Given the description of an element on the screen output the (x, y) to click on. 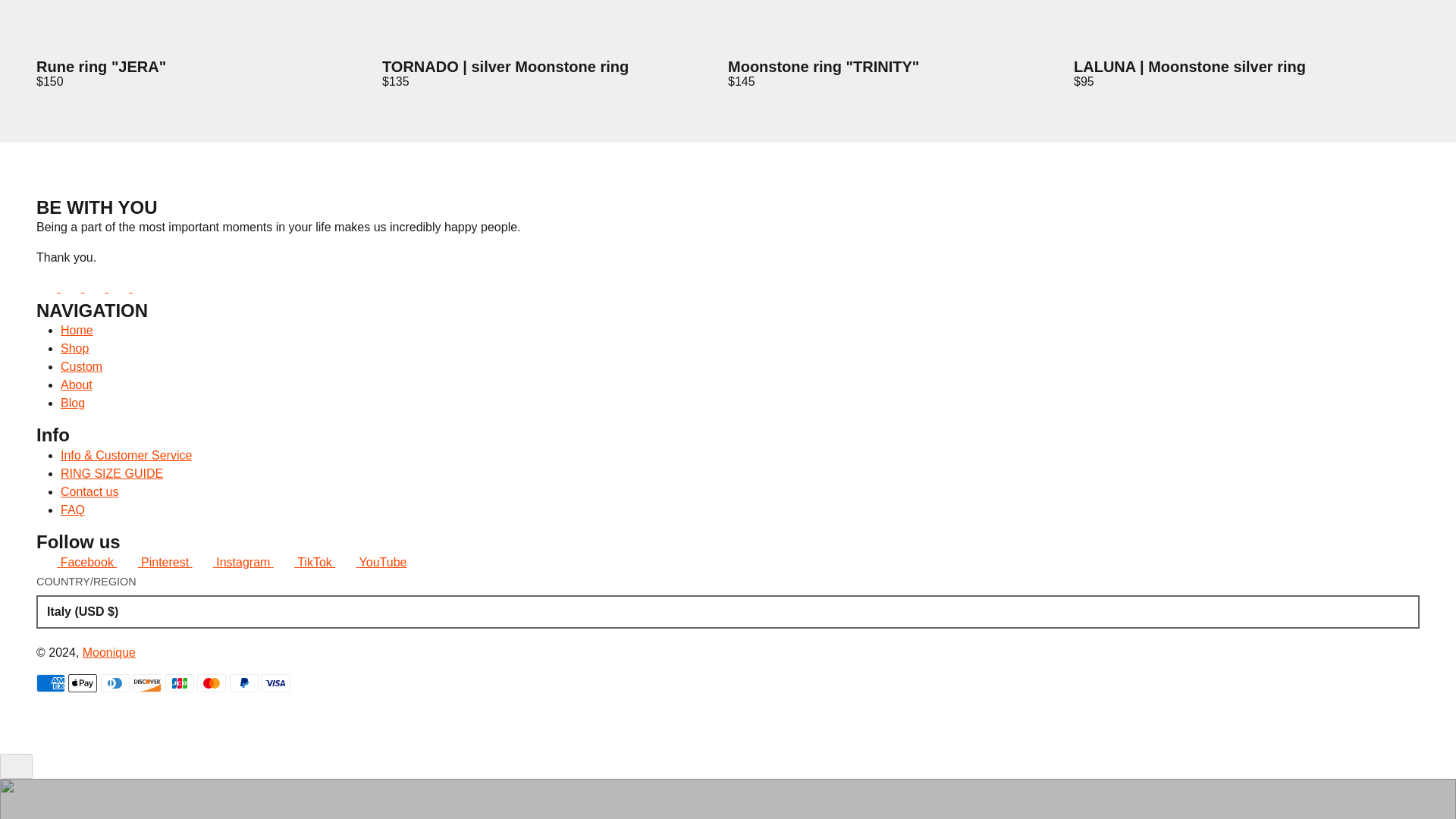
Discover (146, 683)
JCB (179, 683)
PayPal (244, 683)
Mastercard (210, 683)
Diners Club (114, 683)
Apple Pay (82, 683)
American Express (50, 683)
